Given the description of an element on the screen output the (x, y) to click on. 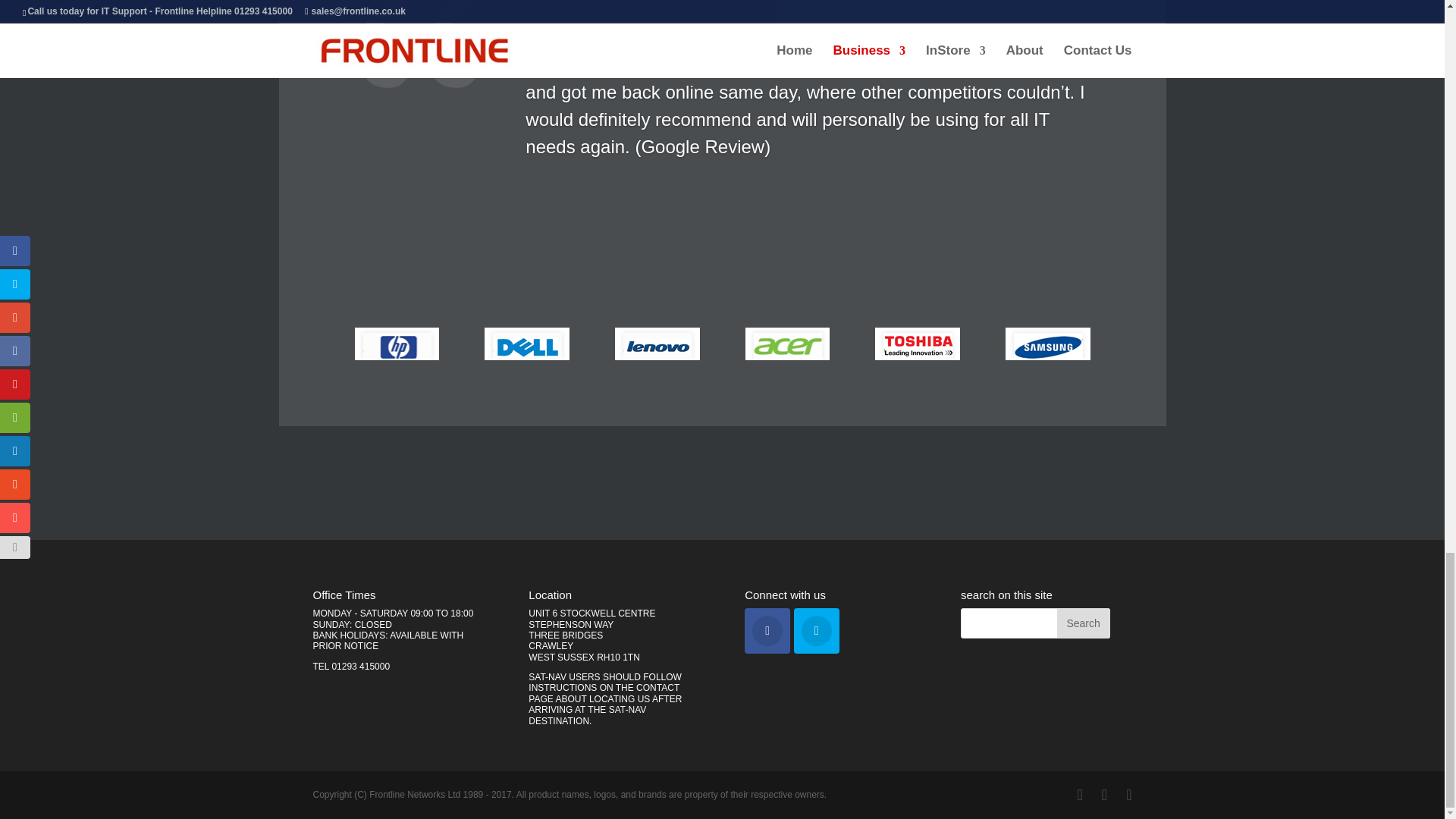
Search (1083, 623)
dell (526, 343)
acer (787, 343)
toshiba (917, 343)
lenovo (657, 343)
hp (397, 343)
samsung (1048, 343)
